Given the description of an element on the screen output the (x, y) to click on. 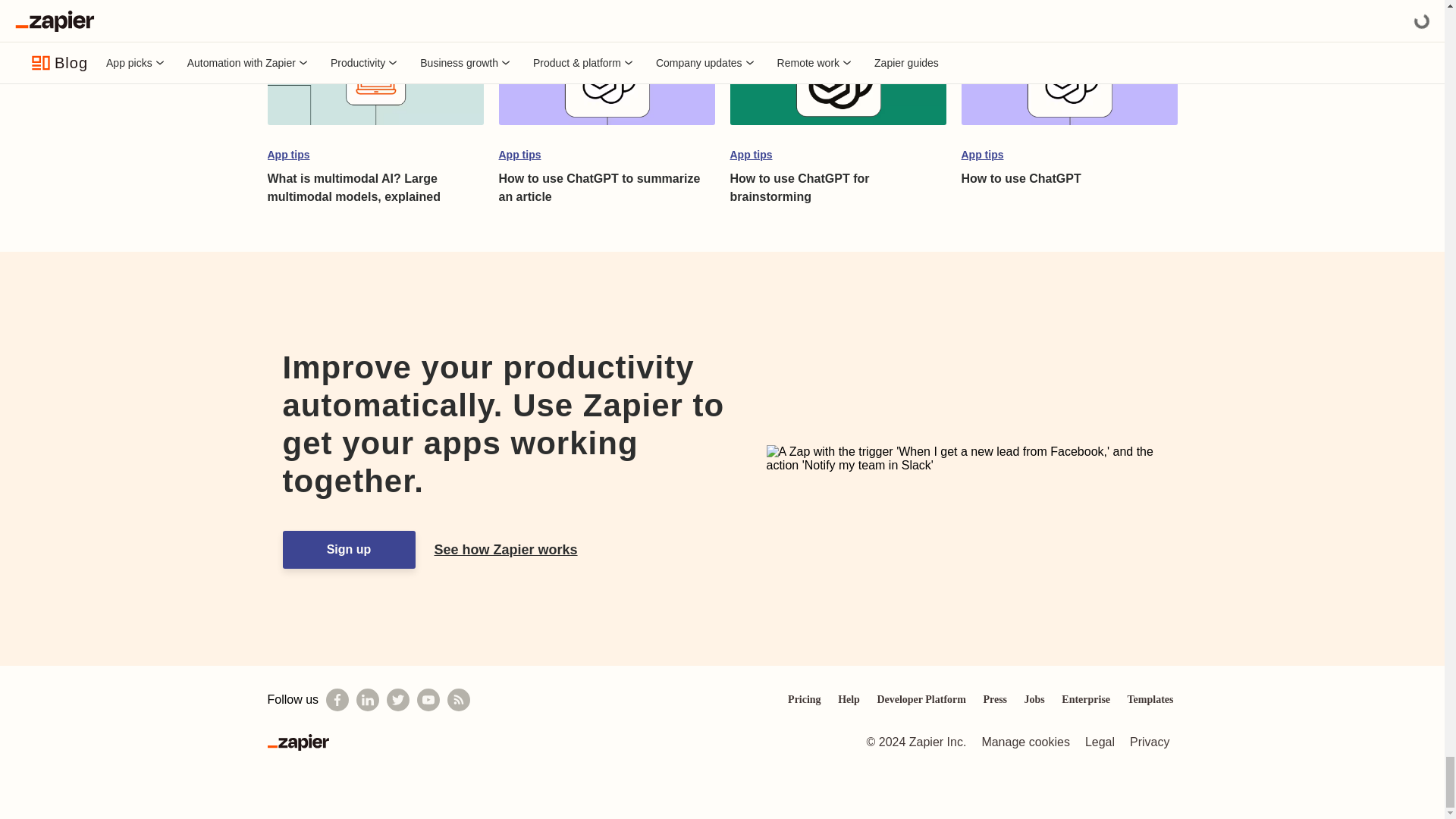
Follow us on LinkedIn (367, 699)
Follow us on Facebook (337, 699)
See helpful Zapier videos on Youtube (427, 699)
Subscribe to our blog (458, 699)
